Given the description of an element on the screen output the (x, y) to click on. 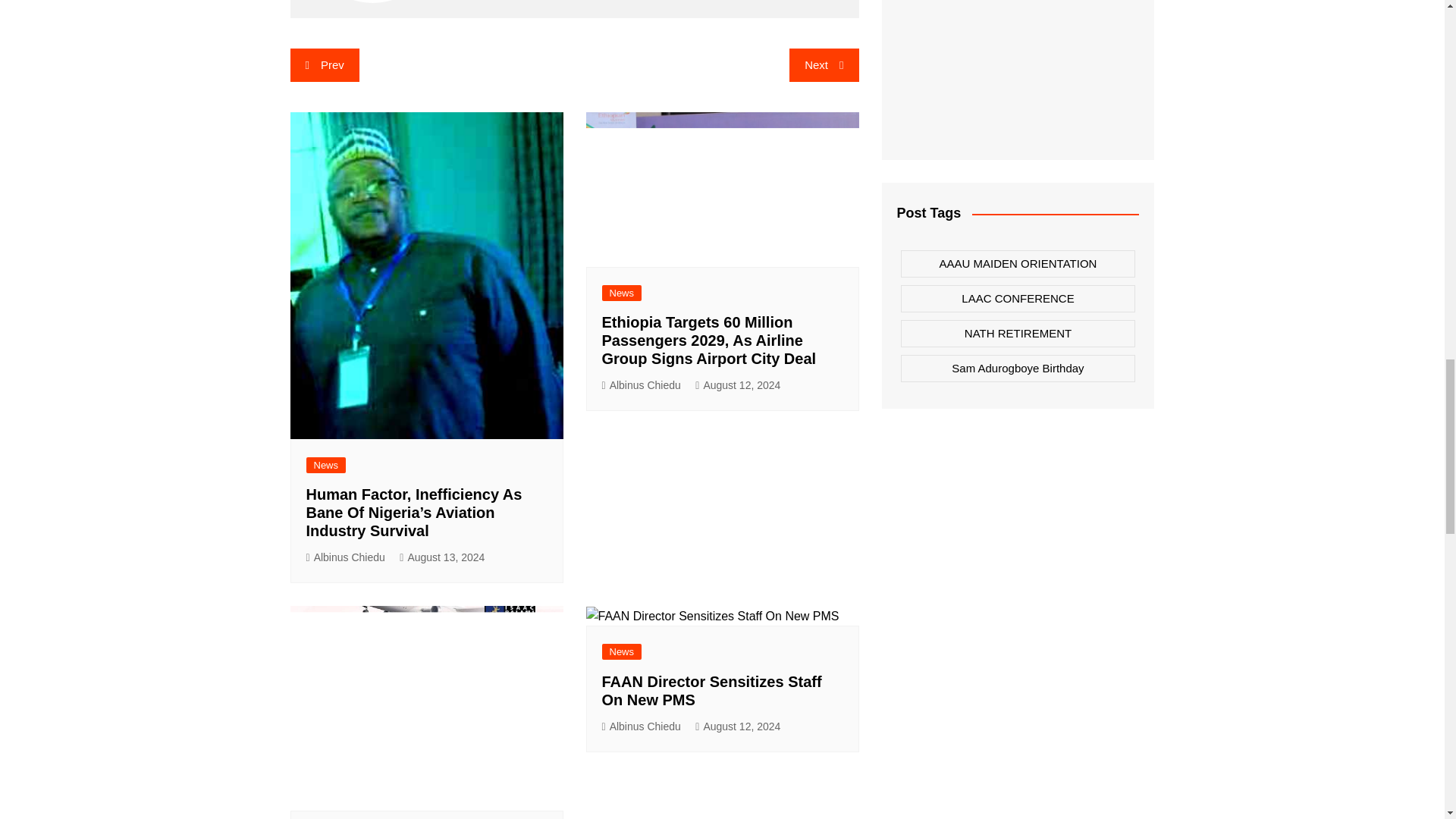
Albinus Chiedu (641, 384)
August 12, 2024 (737, 384)
News (325, 465)
News (622, 293)
Next (824, 64)
Albinus Chiedu (345, 557)
Prev (323, 64)
August 13, 2024 (441, 557)
